Given the description of an element on the screen output the (x, y) to click on. 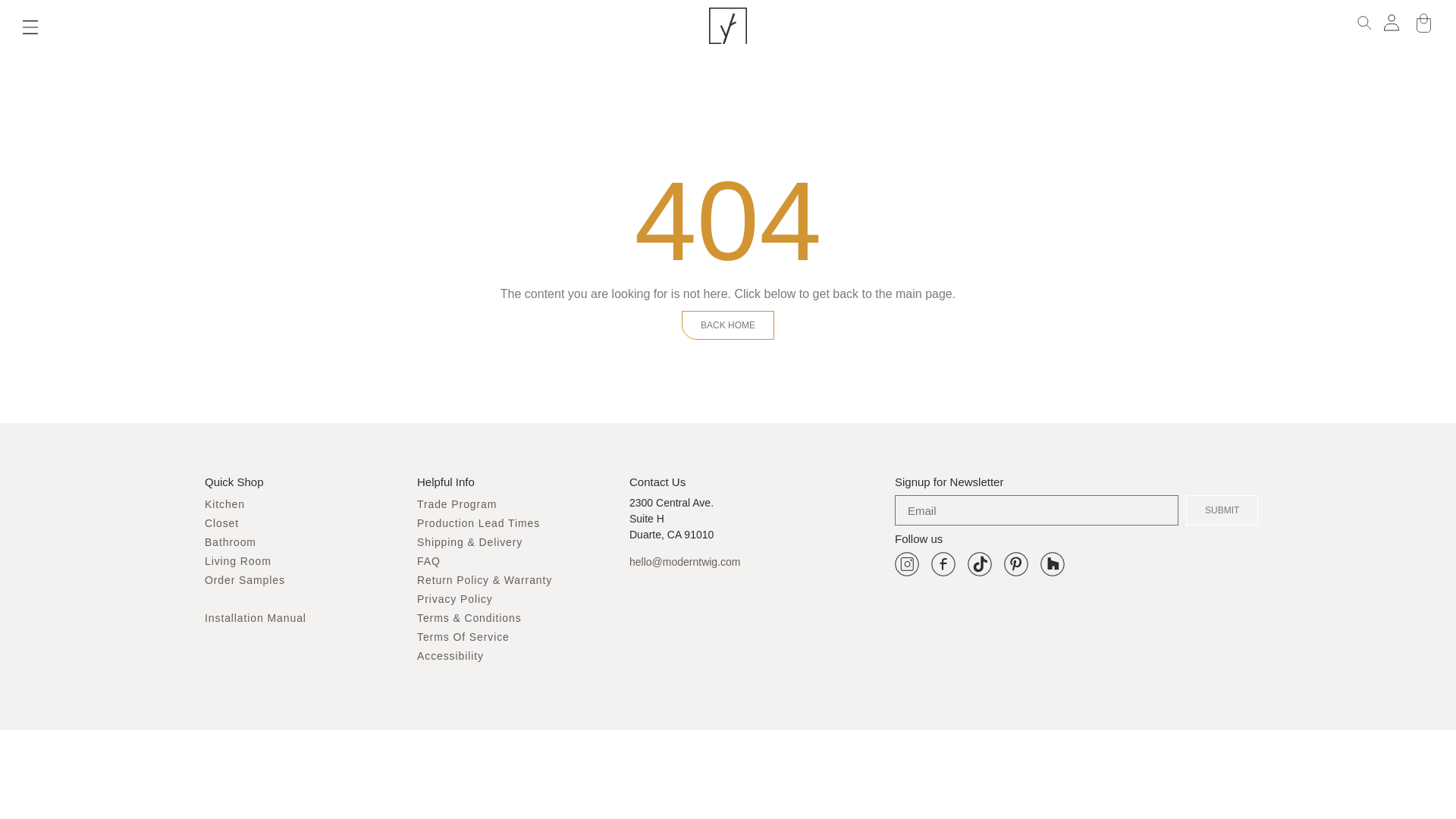
Accessibility (449, 655)
Terms Of Service (462, 636)
Privacy Policy (454, 598)
Order Samples (245, 580)
Production Lead Times (478, 522)
Bathroom (230, 541)
Installation Manual (255, 616)
Closet (221, 522)
Kitchen (224, 503)
BACK HOME (727, 325)
Living Room (237, 561)
SUBMIT (1221, 510)
FAQ (428, 561)
Trade Program (456, 503)
